Given the description of an element on the screen output the (x, y) to click on. 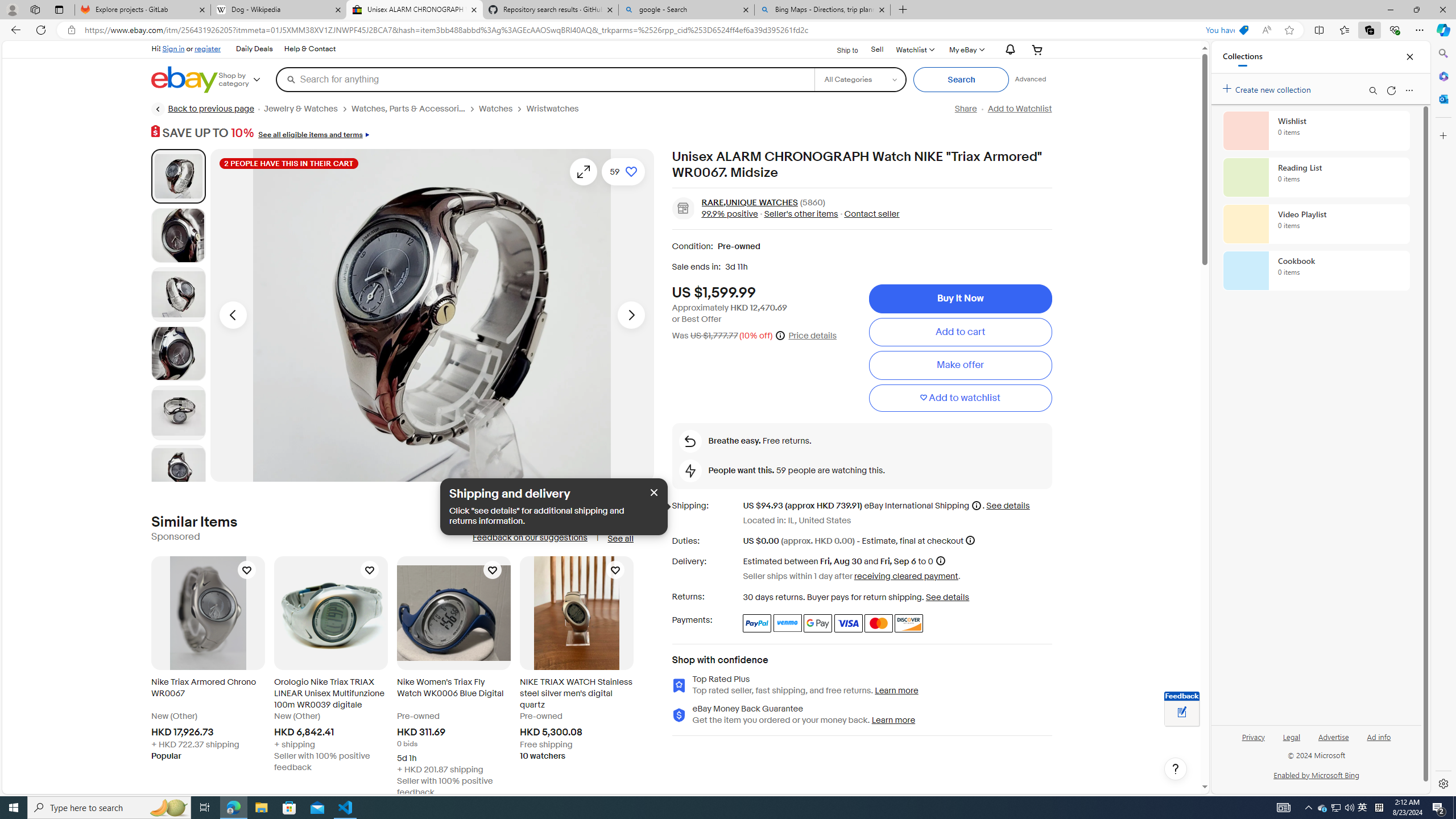
PayPal (756, 623)
Learn more - Top Rated Plus - opens in a new window or tab (896, 690)
  Contact seller (868, 213)
See details for shipping (1007, 505)
Wristwatches (556, 108)
Add to cart (959, 332)
